Given the description of an element on the screen output the (x, y) to click on. 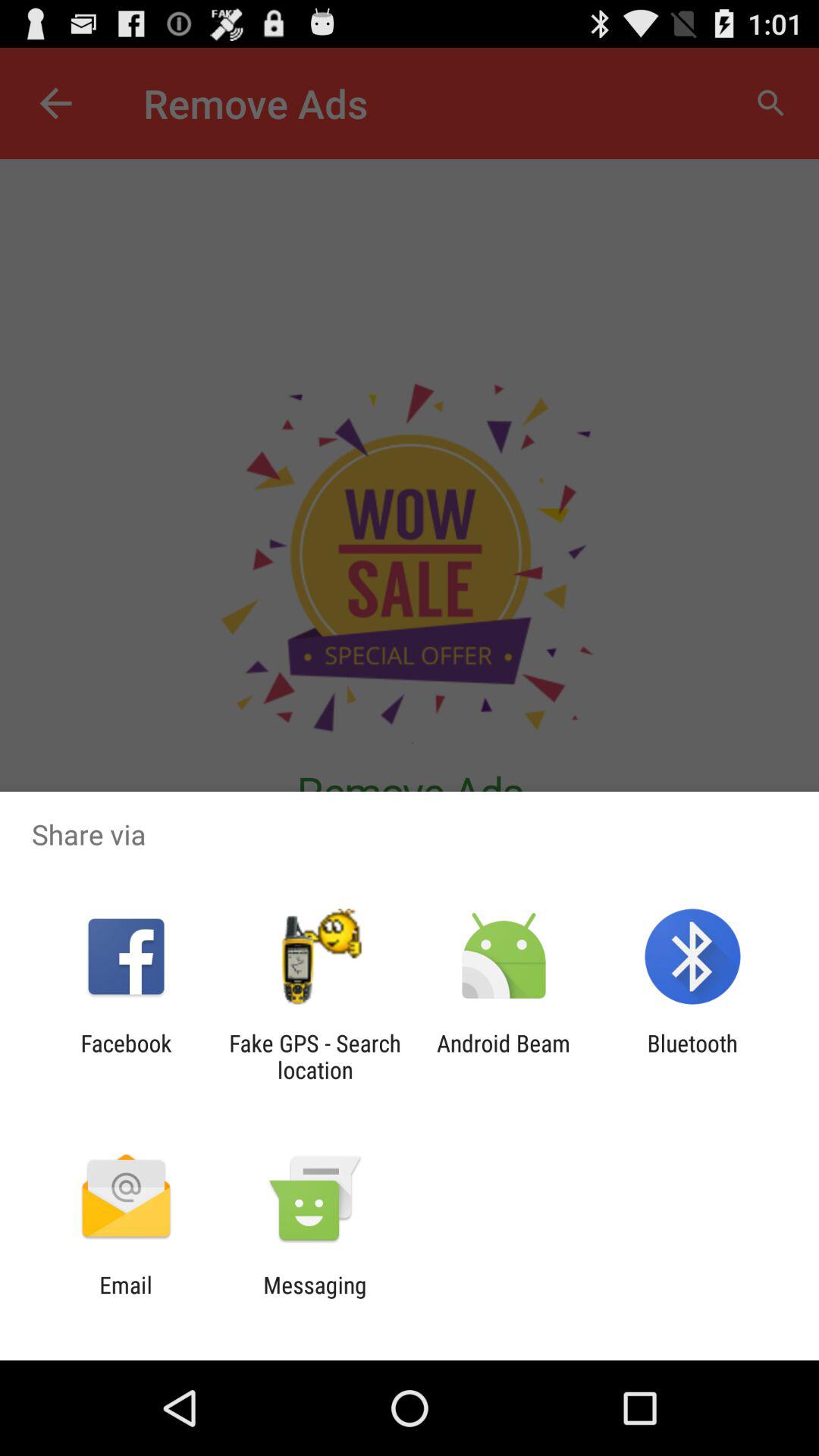
flip until the fake gps search (314, 1056)
